Given the description of an element on the screen output the (x, y) to click on. 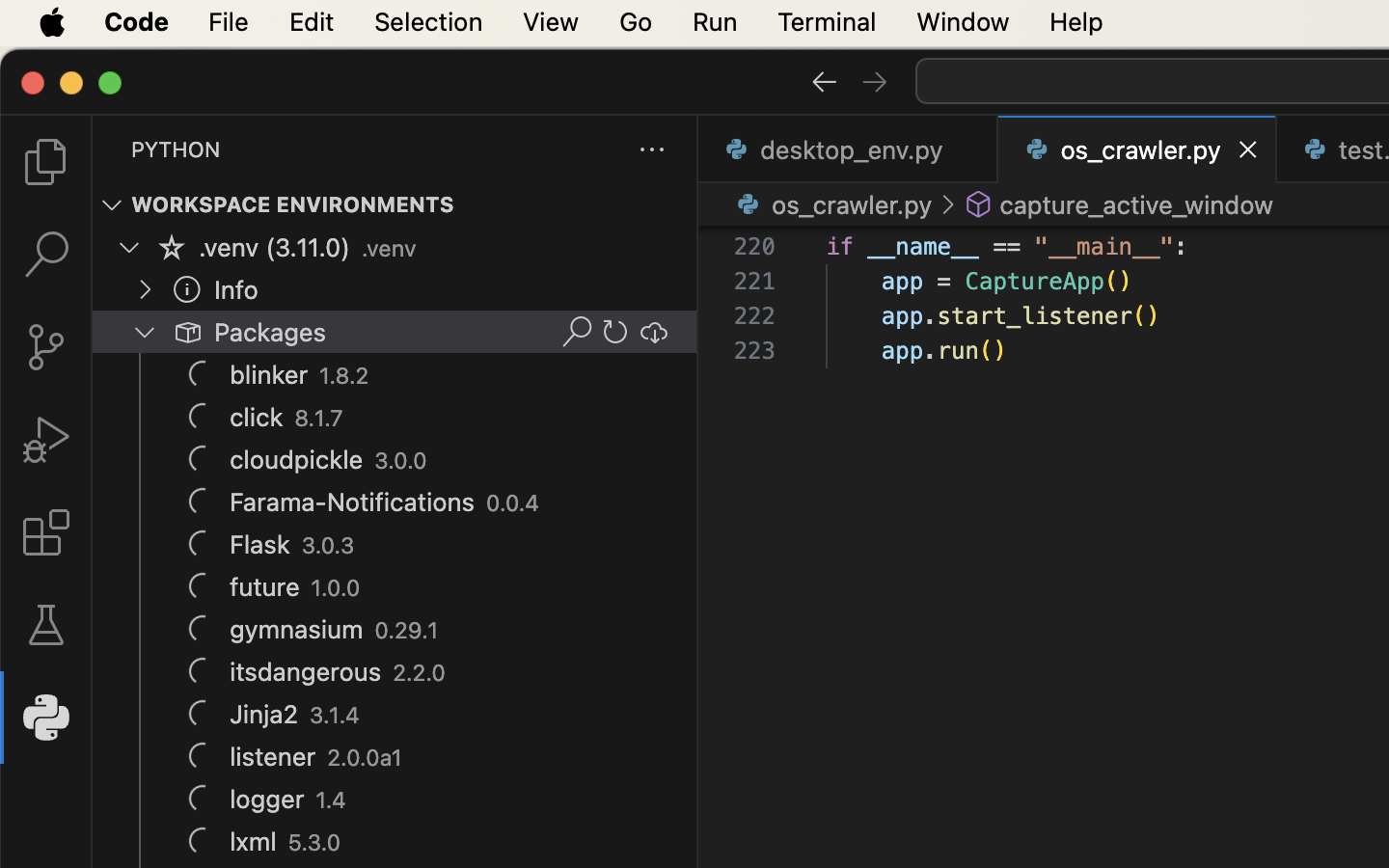
 Element type: AXButton (824, 80)
5.3.0 Element type: AXStaticText (314, 842)
Farama-Notifications Element type: AXStaticText (352, 502)
WORKSPACE ENVIRONMENTS Element type: AXStaticText (293, 204)
2.2.0 Element type: AXStaticText (418, 672)
